Given the description of an element on the screen output the (x, y) to click on. 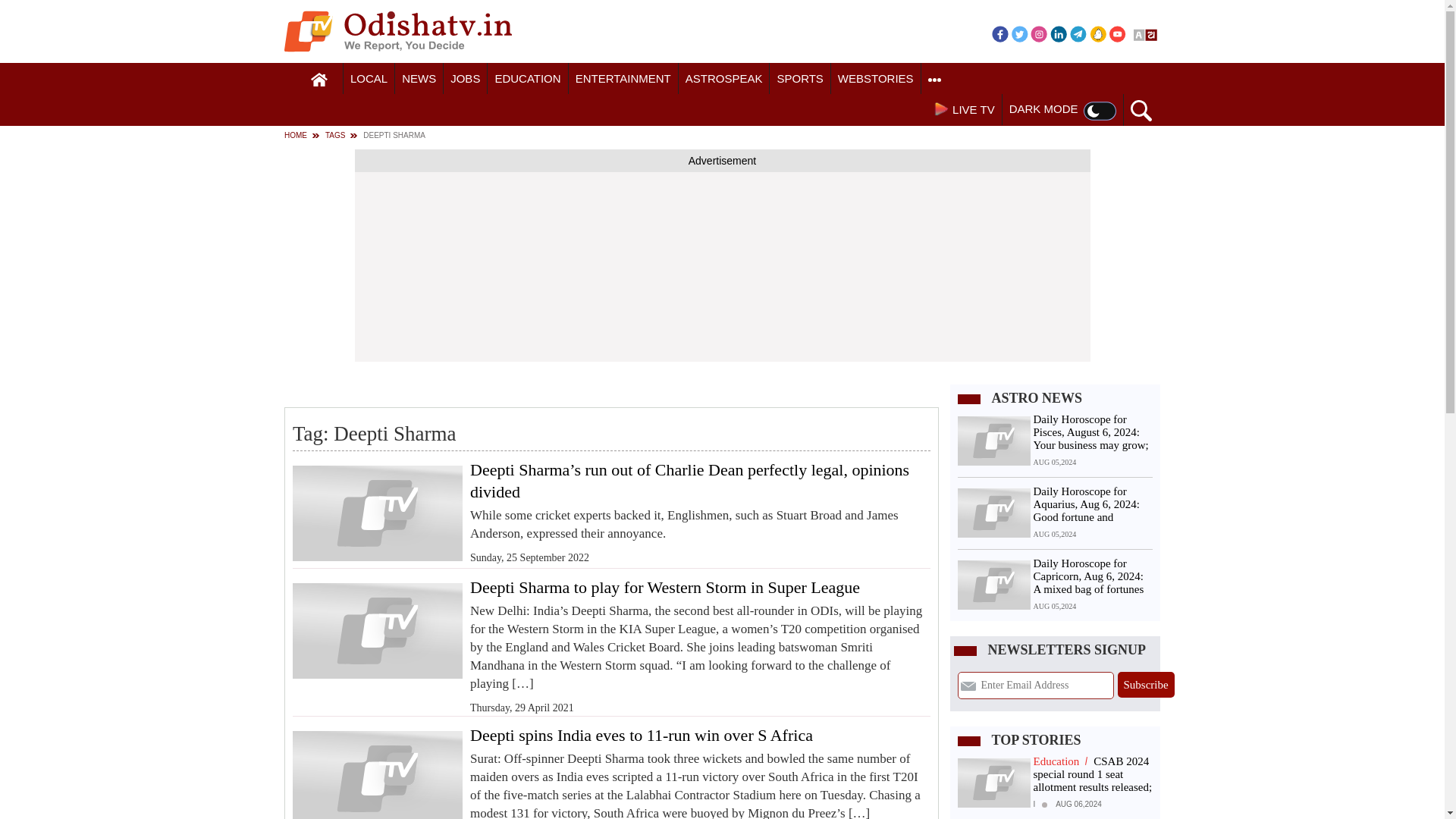
Twitter (1019, 33)
LinkedIn (1058, 33)
LOCAL (368, 78)
OdishaTV (397, 31)
Home Icon (319, 79)
EDUCATION (527, 78)
Facebook (1000, 33)
ENTERTAINMENT (623, 78)
JOBS (465, 78)
Instagram (1038, 33)
Youtube (1117, 33)
Odisha (368, 78)
Koo (1097, 33)
News (418, 78)
Telegram (1078, 33)
